Given the description of an element on the screen output the (x, y) to click on. 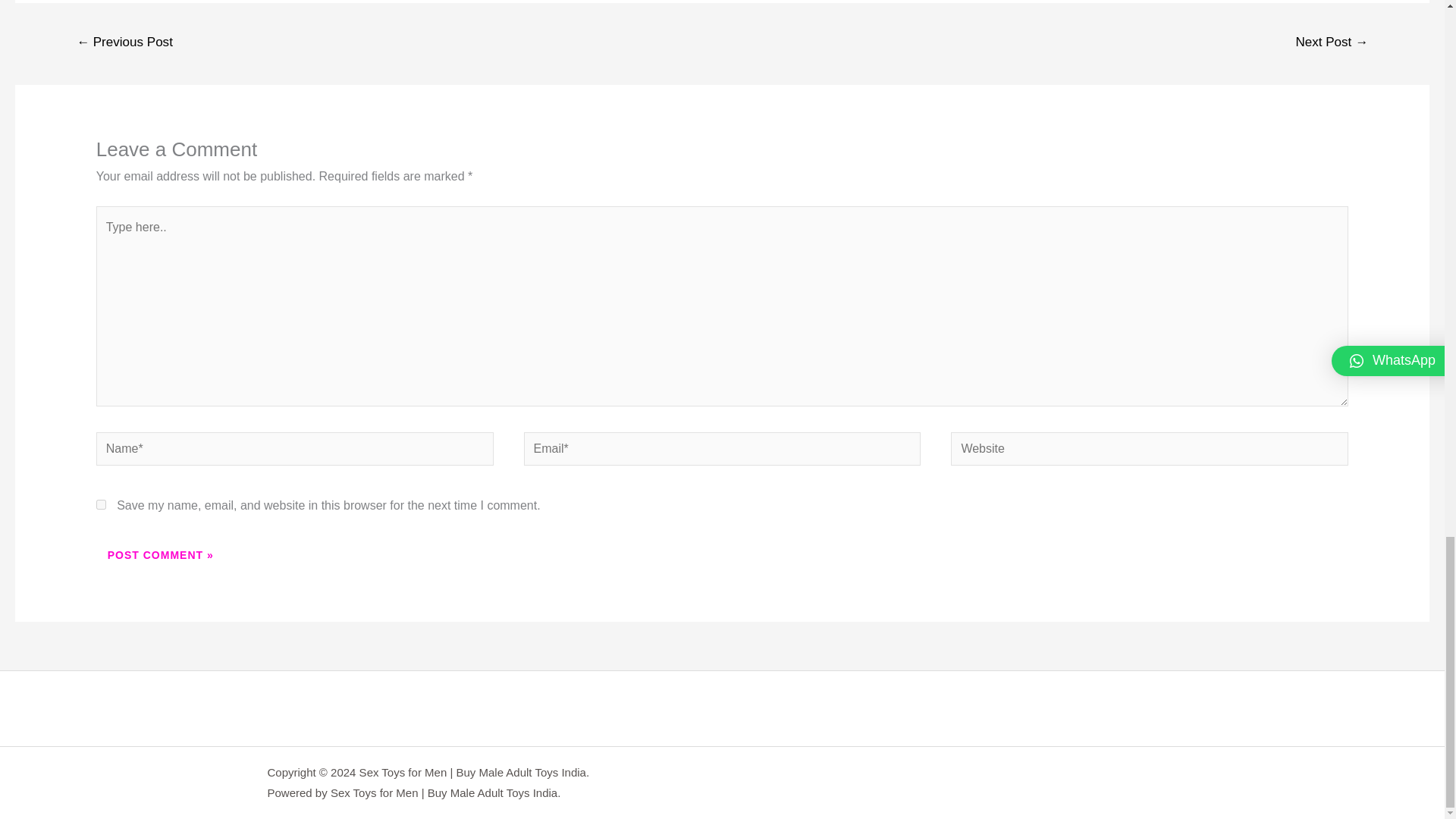
yes (101, 504)
